Given the description of an element on the screen output the (x, y) to click on. 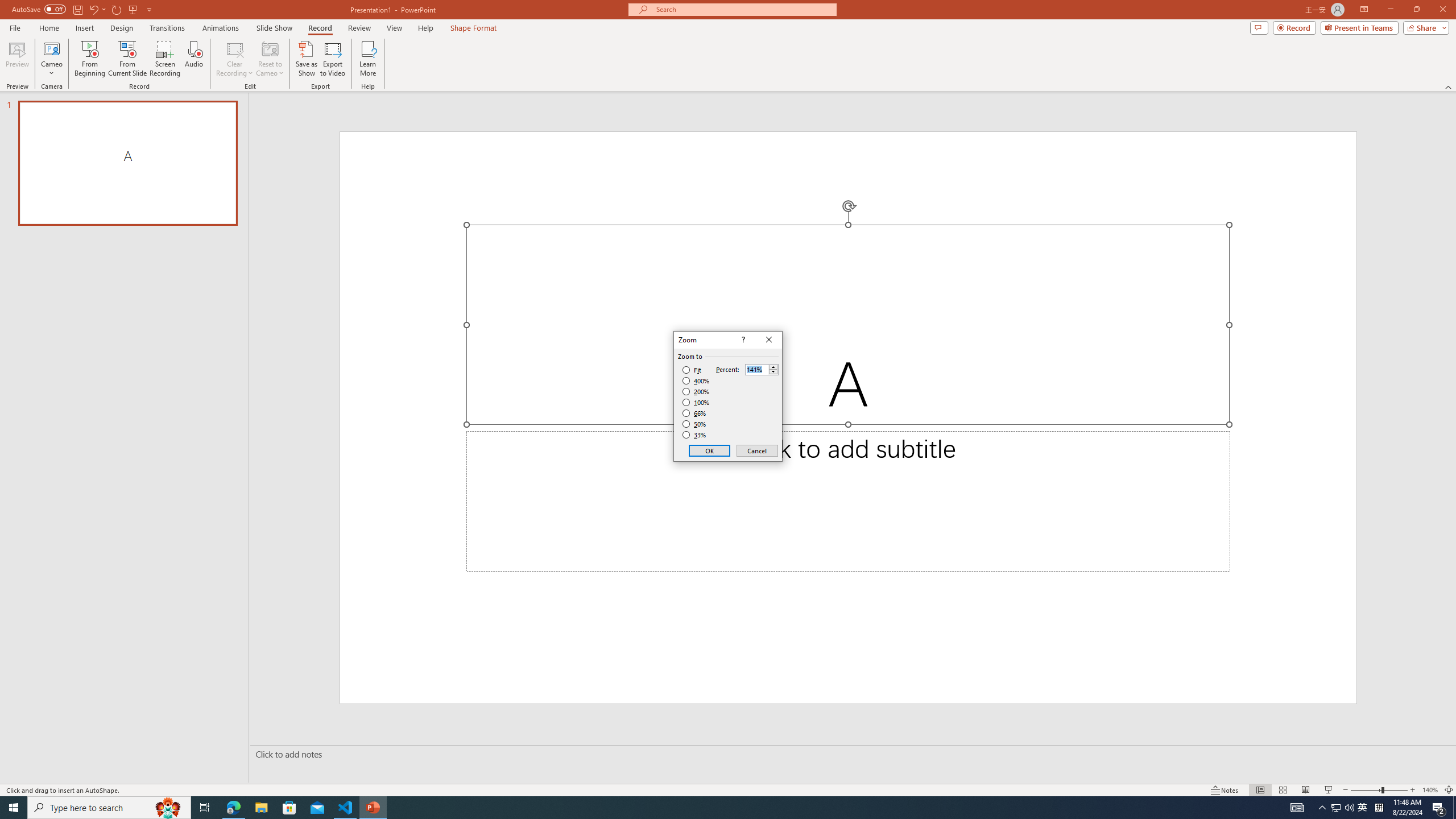
100% (696, 402)
